Given the description of an element on the screen output the (x, y) to click on. 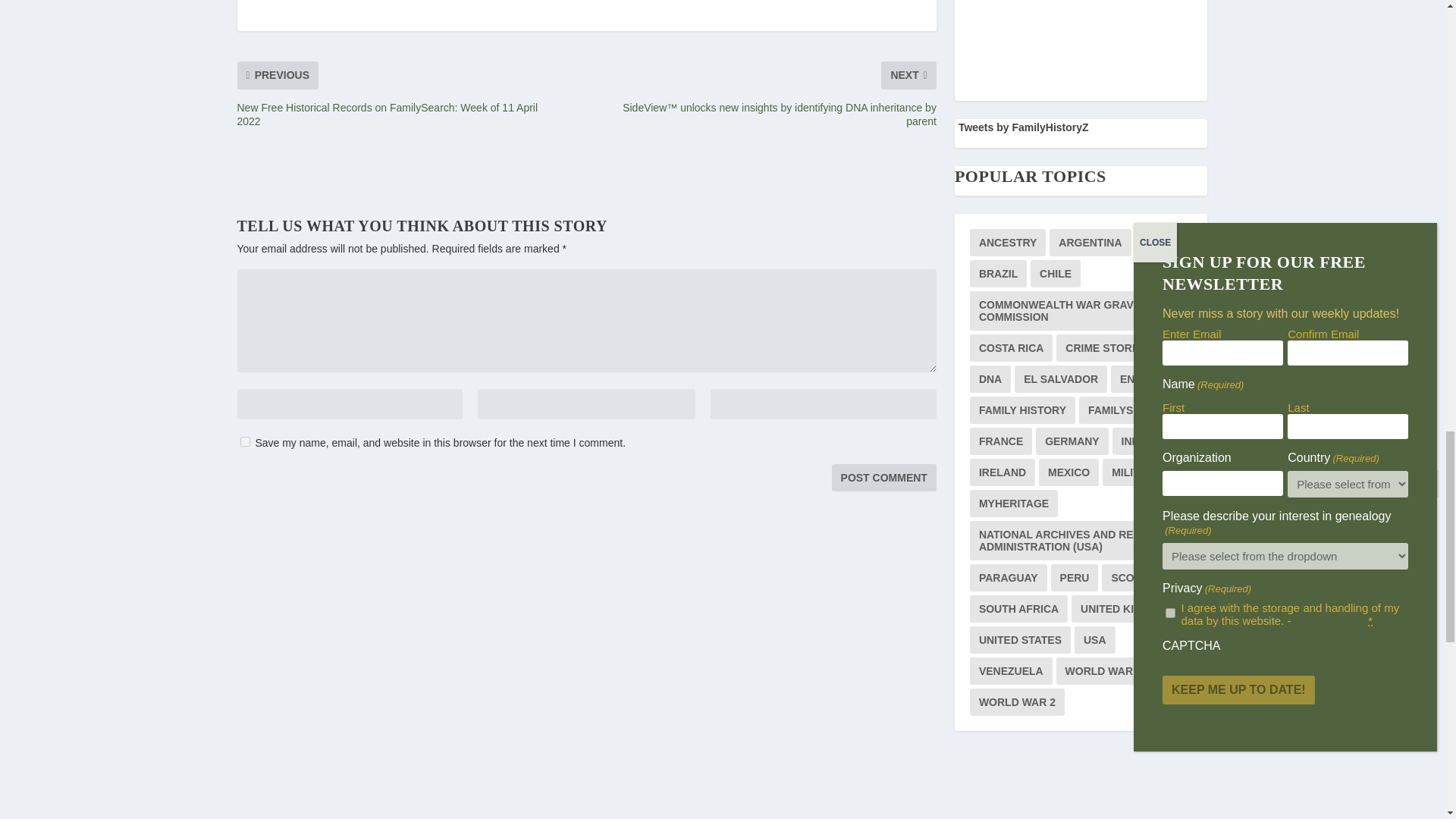
yes (244, 441)
Post Comment (883, 477)
